Given the description of an element on the screen output the (x, y) to click on. 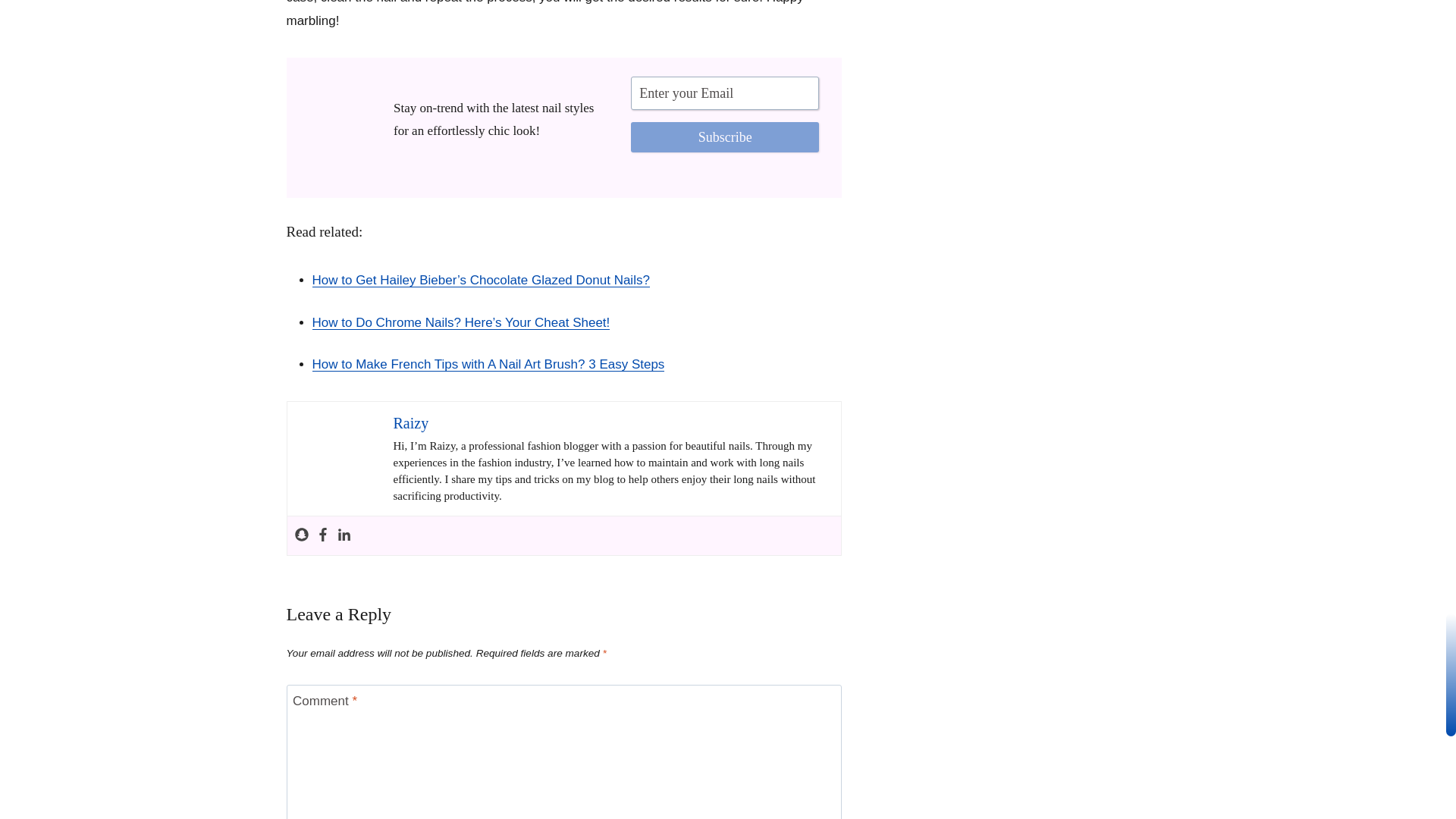
How to Do Marble Nails With Water at Home? 7 Easy Steps 2 (338, 120)
How to Do Marble Nails With Water at Home? 7 Easy Steps 3 (339, 458)
